Given the description of an element on the screen output the (x, y) to click on. 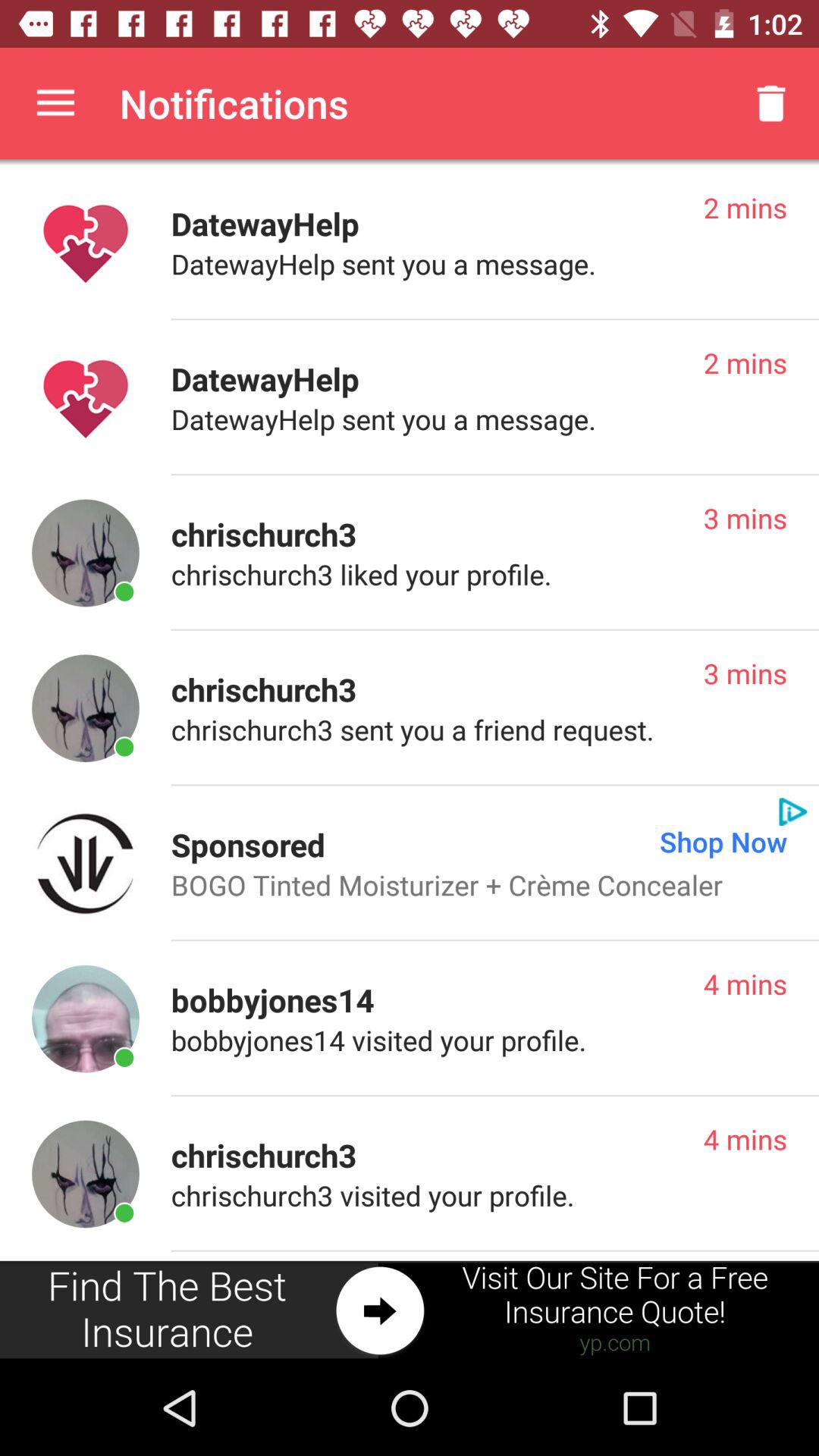
open sponsored content (85, 863)
